Given the description of an element on the screen output the (x, y) to click on. 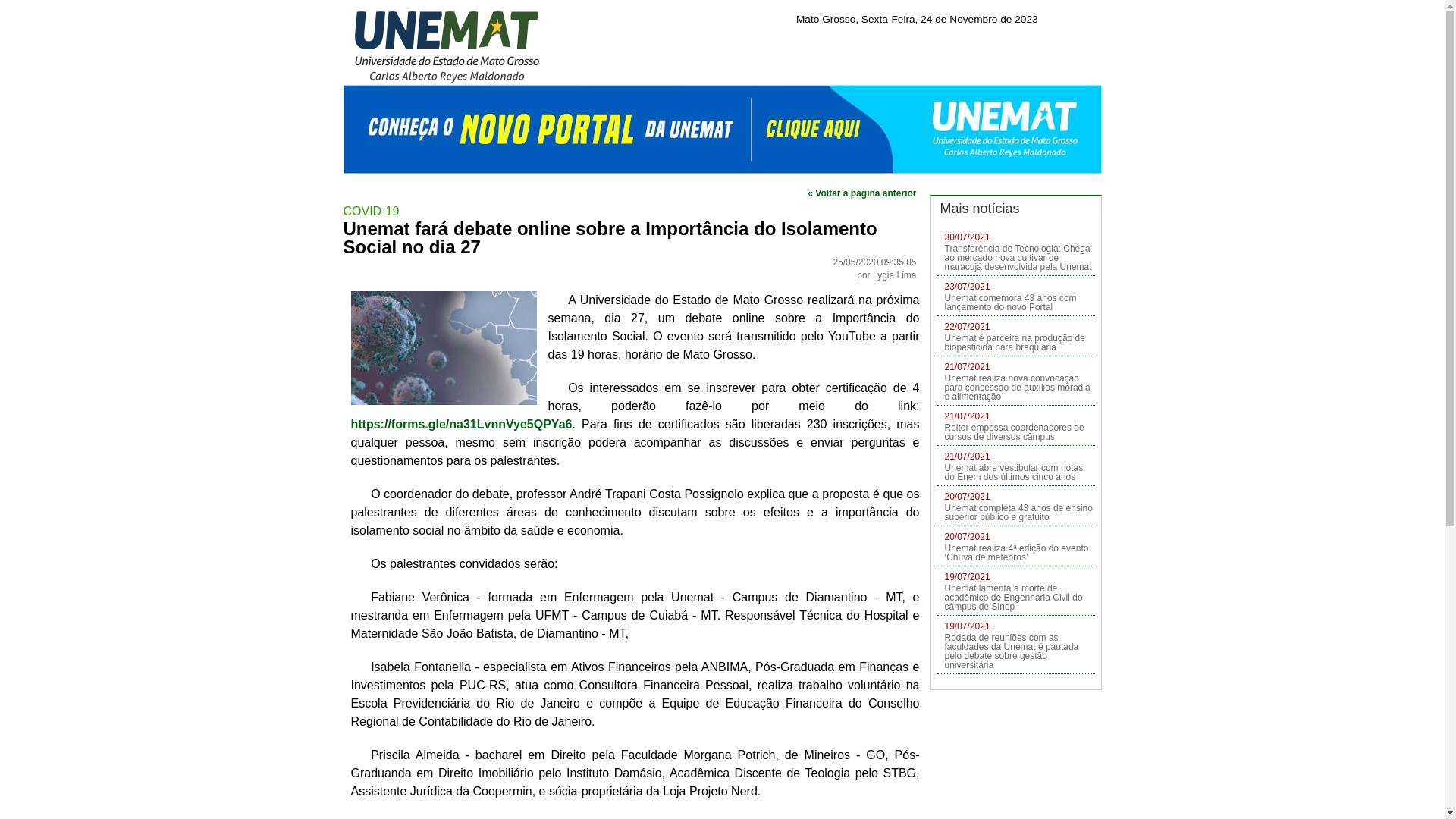
Novo Portal Element type: hover (721, 128)
https://forms.gle/na31LvnnVye5QPYa6 Element type: text (460, 423)
